Given the description of an element on the screen output the (x, y) to click on. 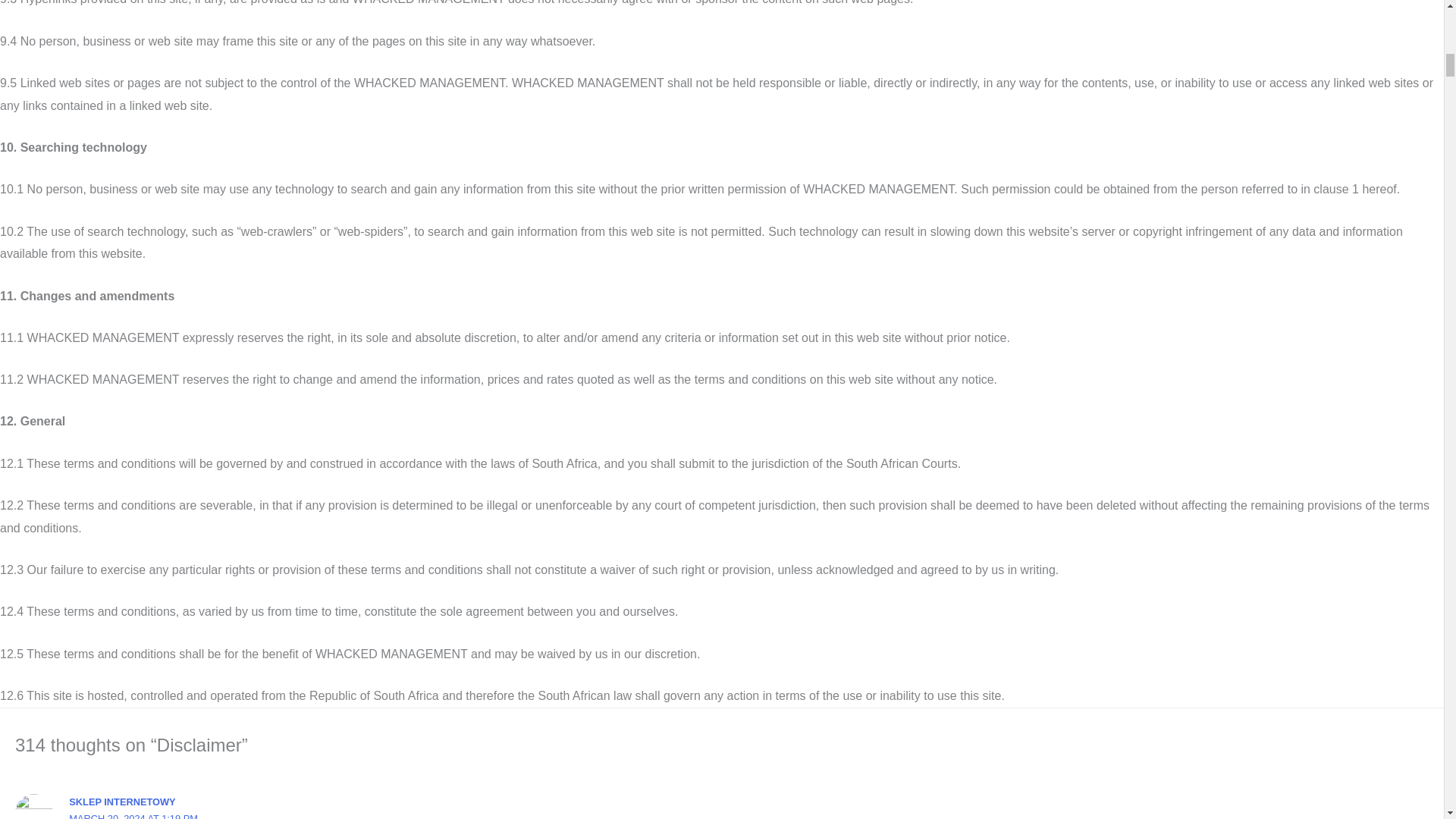
MARCH 20, 2024 AT 1:19 PM (133, 816)
SKLEP INTERNETOWY (121, 801)
